Given the description of an element on the screen output the (x, y) to click on. 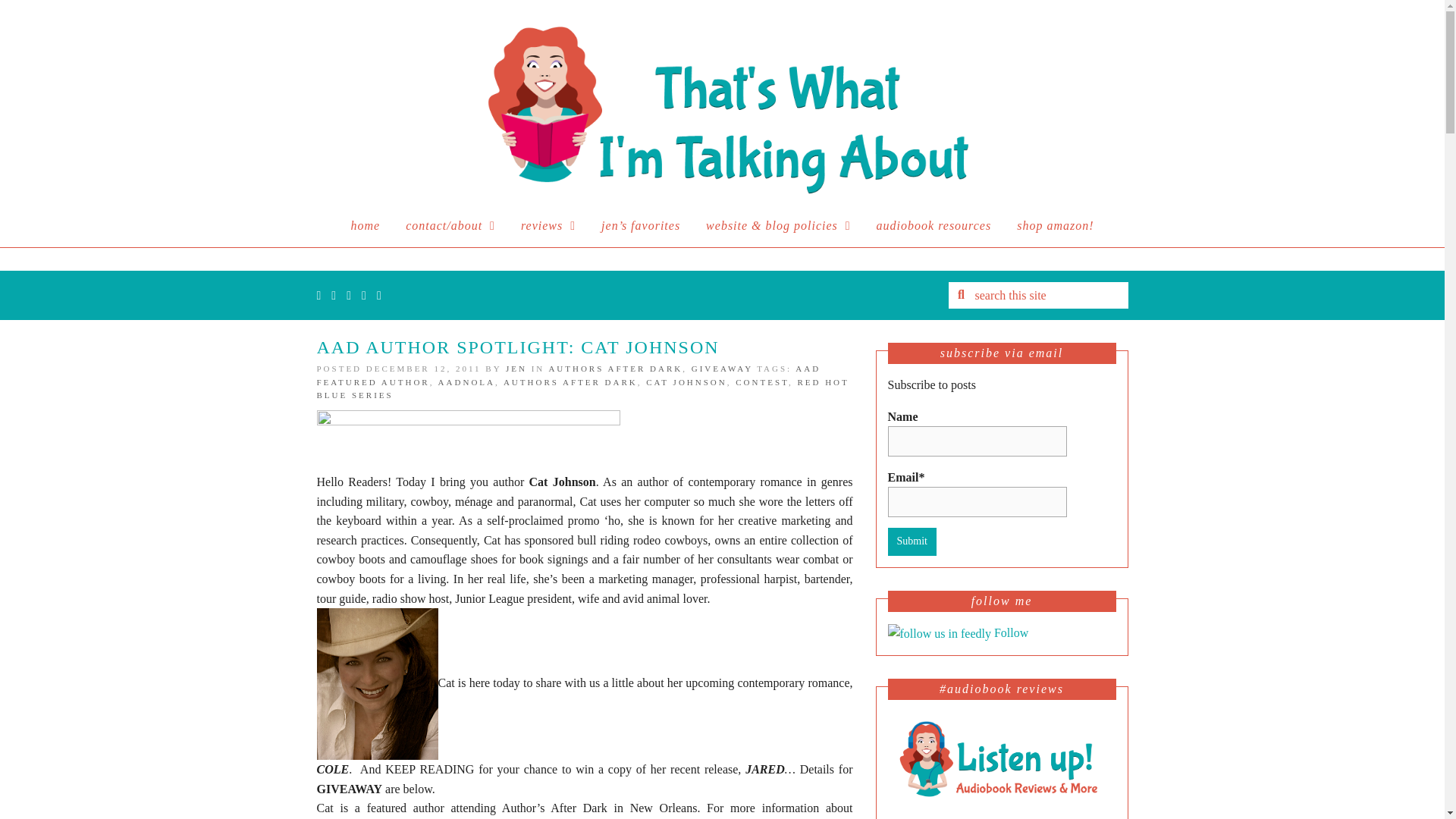
Submit (911, 541)
View all posts in Giveaway (721, 368)
View all posts in Authors After Dark (615, 368)
reviews   (547, 225)
home (365, 225)
